Given the description of an element on the screen output the (x, y) to click on. 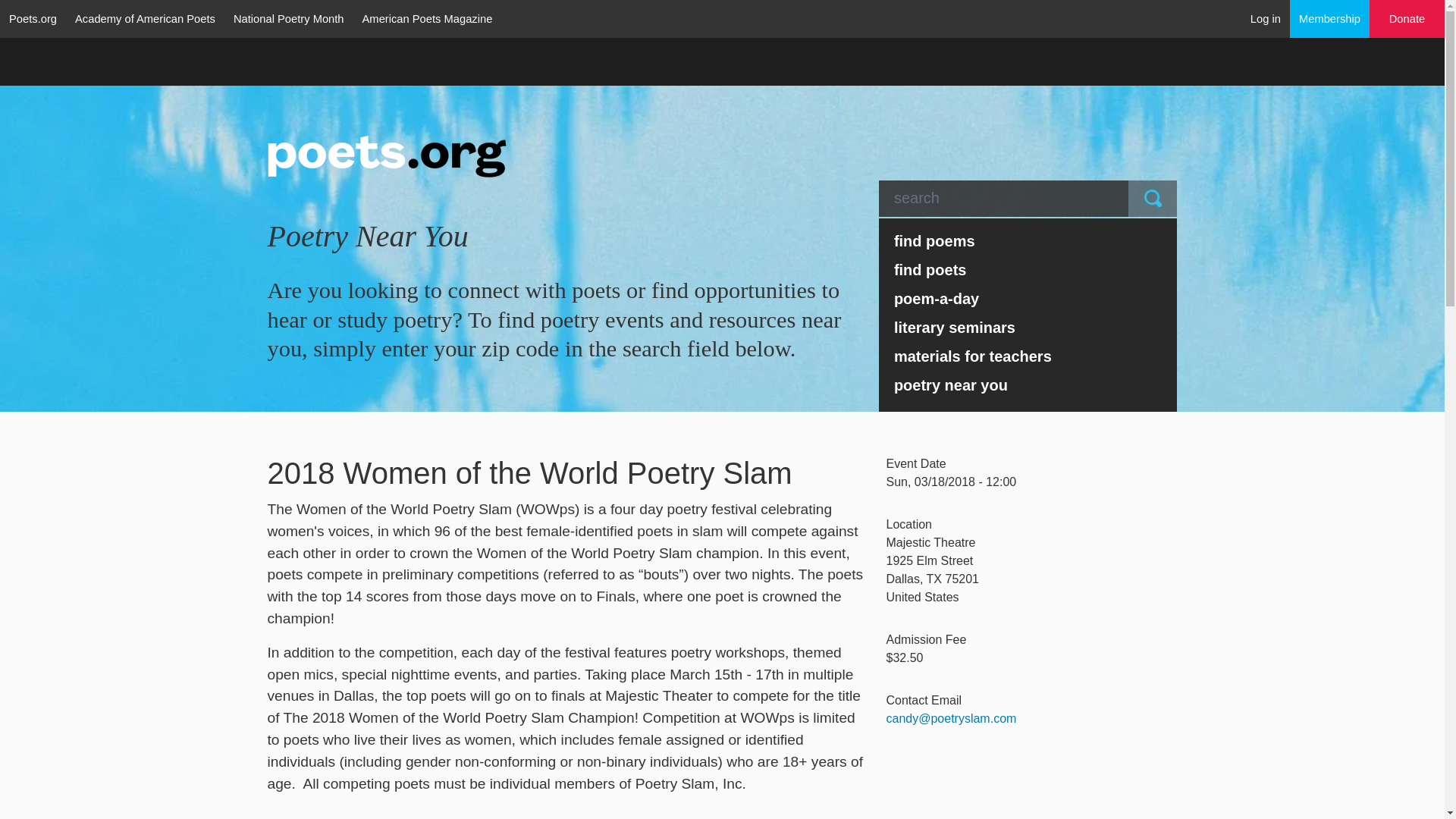
poem-a-day (1028, 298)
Donate (1407, 18)
Poets.org (32, 18)
poetry near you (1028, 385)
find poets (1028, 269)
poem-a-day (1028, 298)
National Poetry Month (288, 18)
Academy of American Poets (144, 18)
Log in (1265, 18)
find poems (1028, 240)
poetry near you (1028, 385)
Become a member of the Academy of American Poets (1330, 18)
American Poets Magazine (427, 18)
Membership (1330, 18)
Submit (1152, 198)
